Given the description of an element on the screen output the (x, y) to click on. 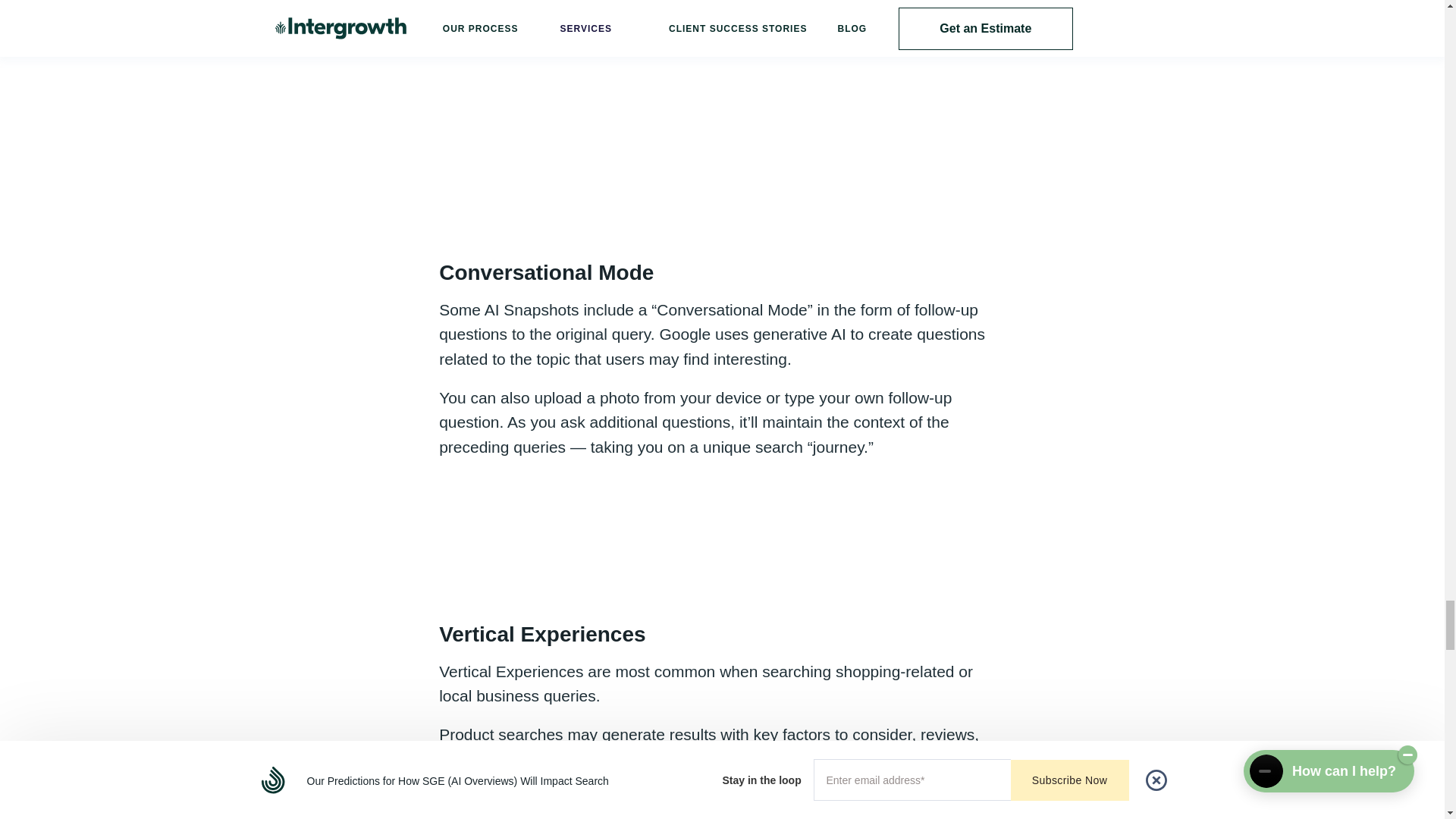
seo sge predictions conversational mode (722, 538)
